Given the description of an element on the screen output the (x, y) to click on. 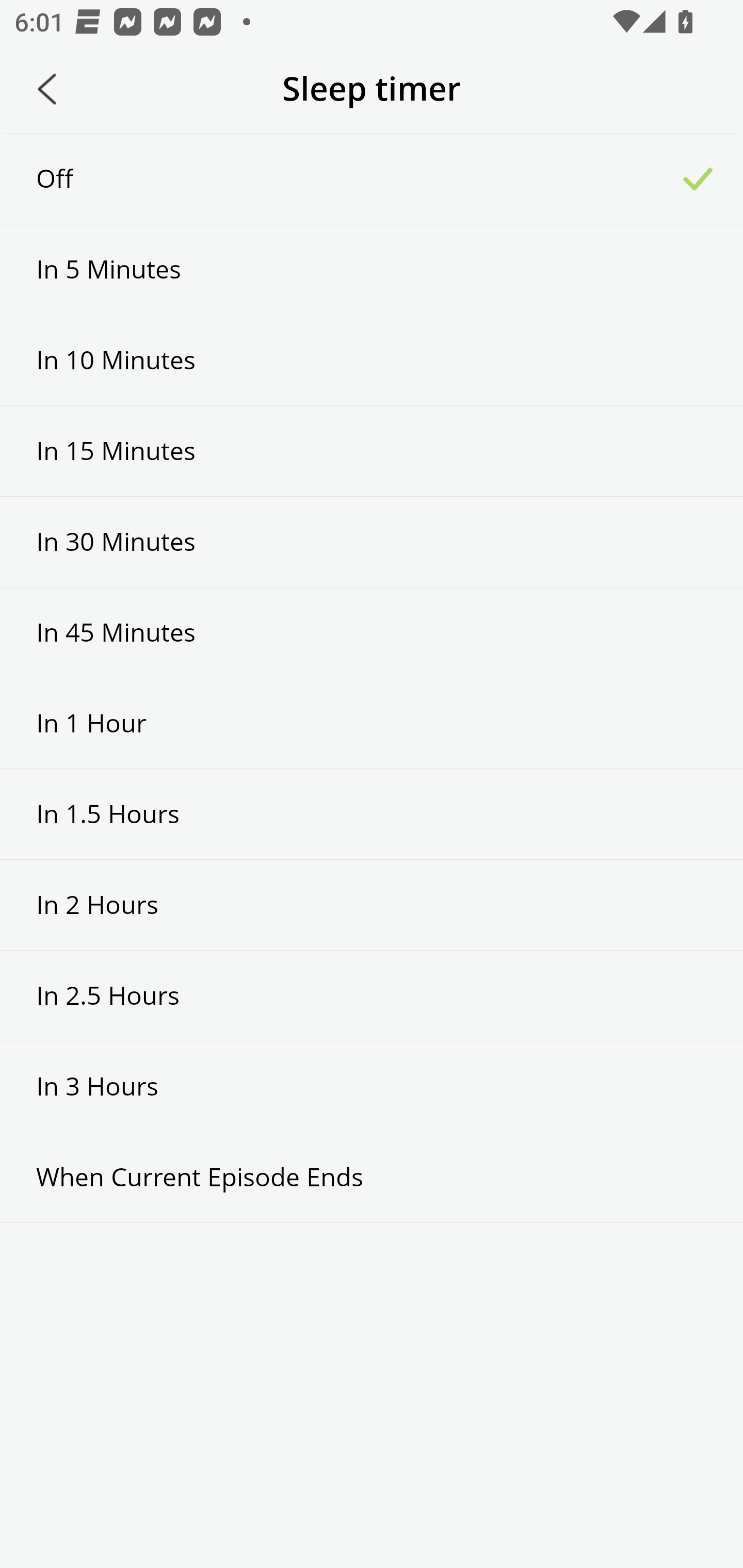
Back (46, 88)
Off (371, 178)
In 5 Minutes (371, 269)
In 10 Minutes (371, 360)
In 15 Minutes (371, 450)
In 30 Minutes (371, 541)
In 45 Minutes (371, 632)
In 1 Hour (371, 723)
In 1.5 Hours (371, 813)
In 2 Hours (371, 904)
In 2.5 Hours (371, 995)
In 3 Hours (371, 1086)
When Current Episode Ends (371, 1177)
